Given the description of an element on the screen output the (x, y) to click on. 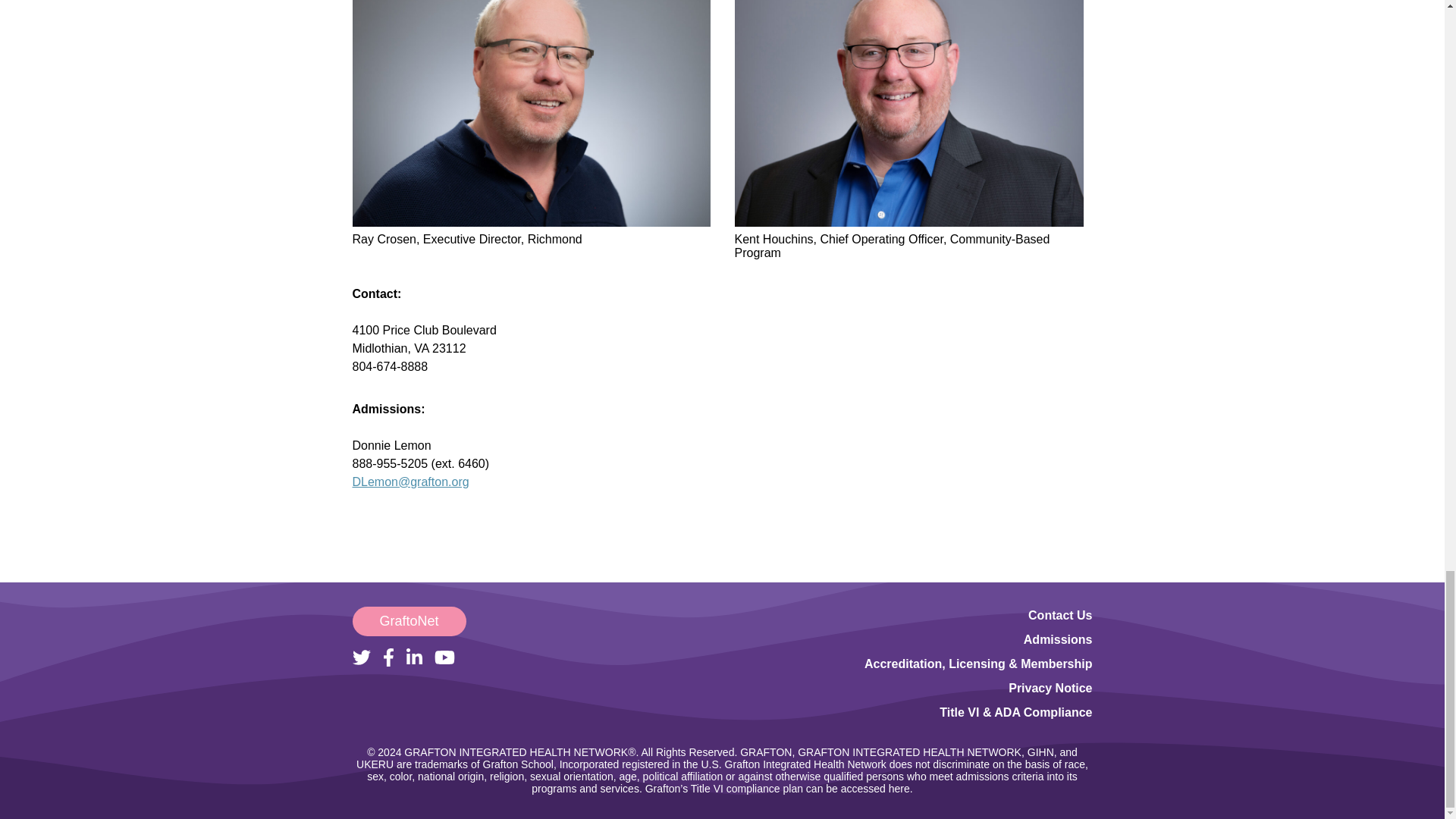
Twitter (360, 657)
YouTube (443, 657)
LinkedIn (414, 657)
GraftoNet (408, 621)
Facebook (387, 657)
